Given the description of an element on the screen output the (x, y) to click on. 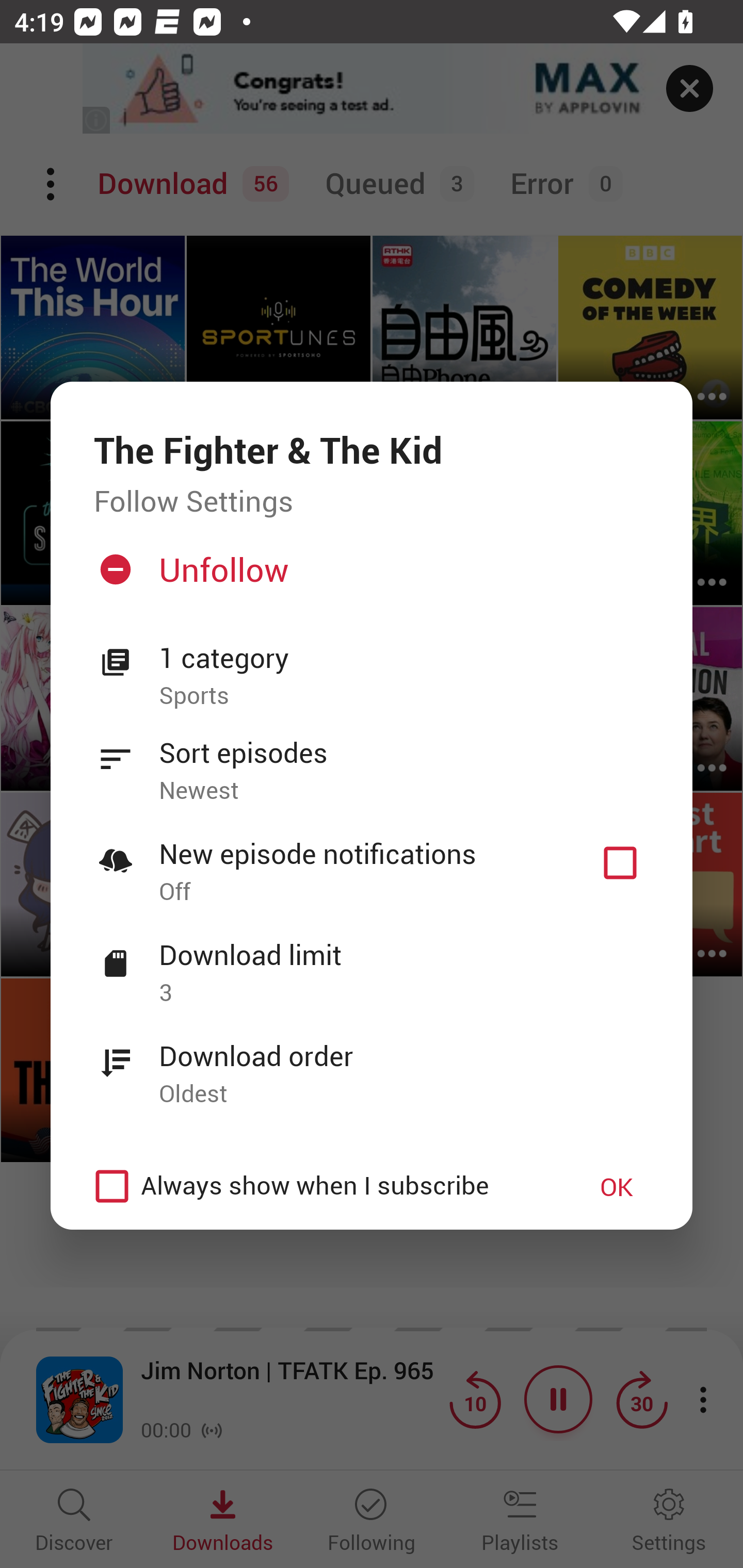
Unfollow (369, 576)
1 category (404, 658)
Sports (404, 696)
Sort episodes Newest (371, 760)
New episode notifications (620, 863)
Download limit 3 (371, 962)
Download order Oldest (371, 1063)
OK (616, 1186)
Always show when I subscribe (320, 1186)
